Given the description of an element on the screen output the (x, y) to click on. 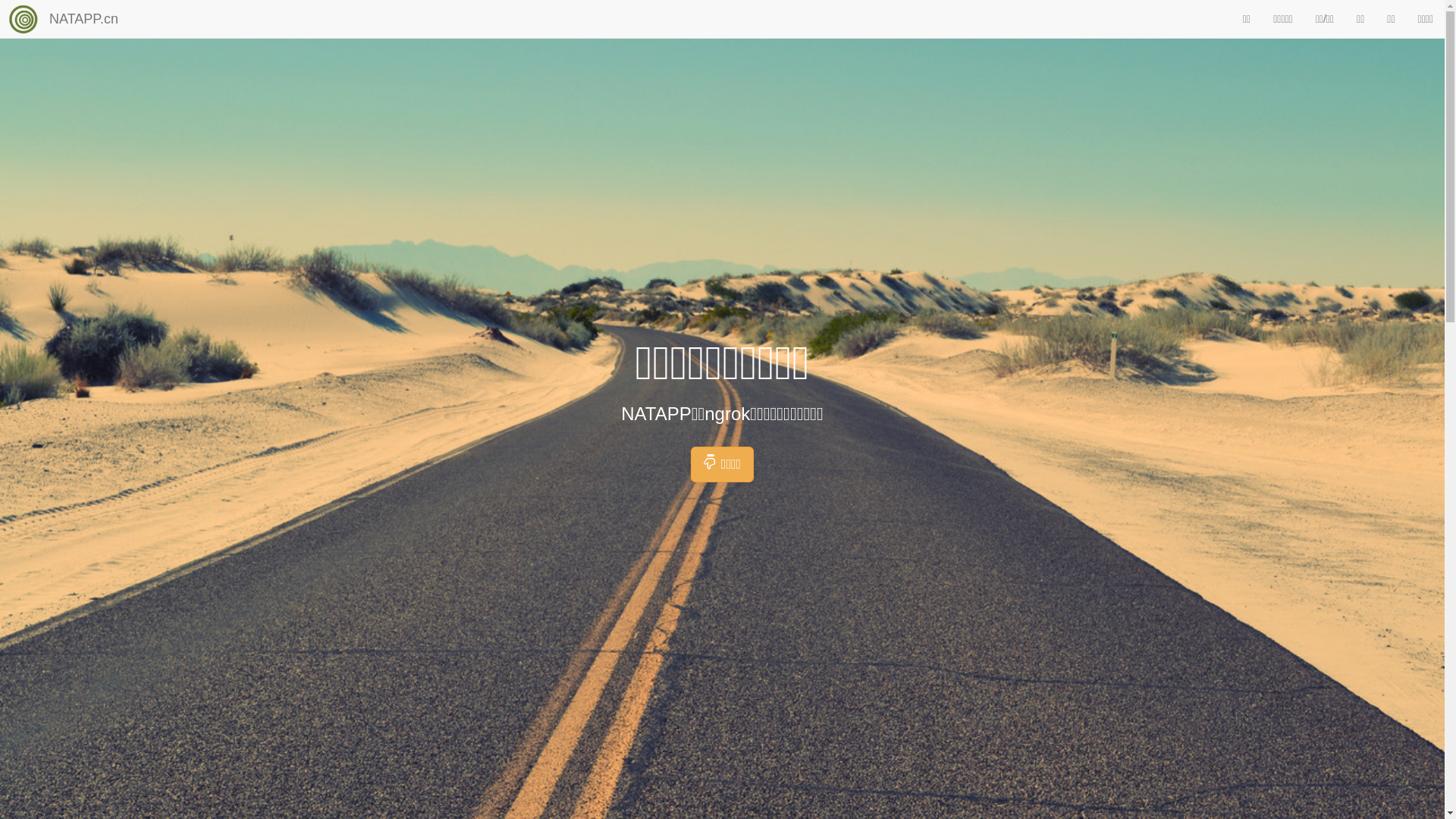
NATAPP.cn Element type: text (83, 18)
